Given the description of an element on the screen output the (x, y) to click on. 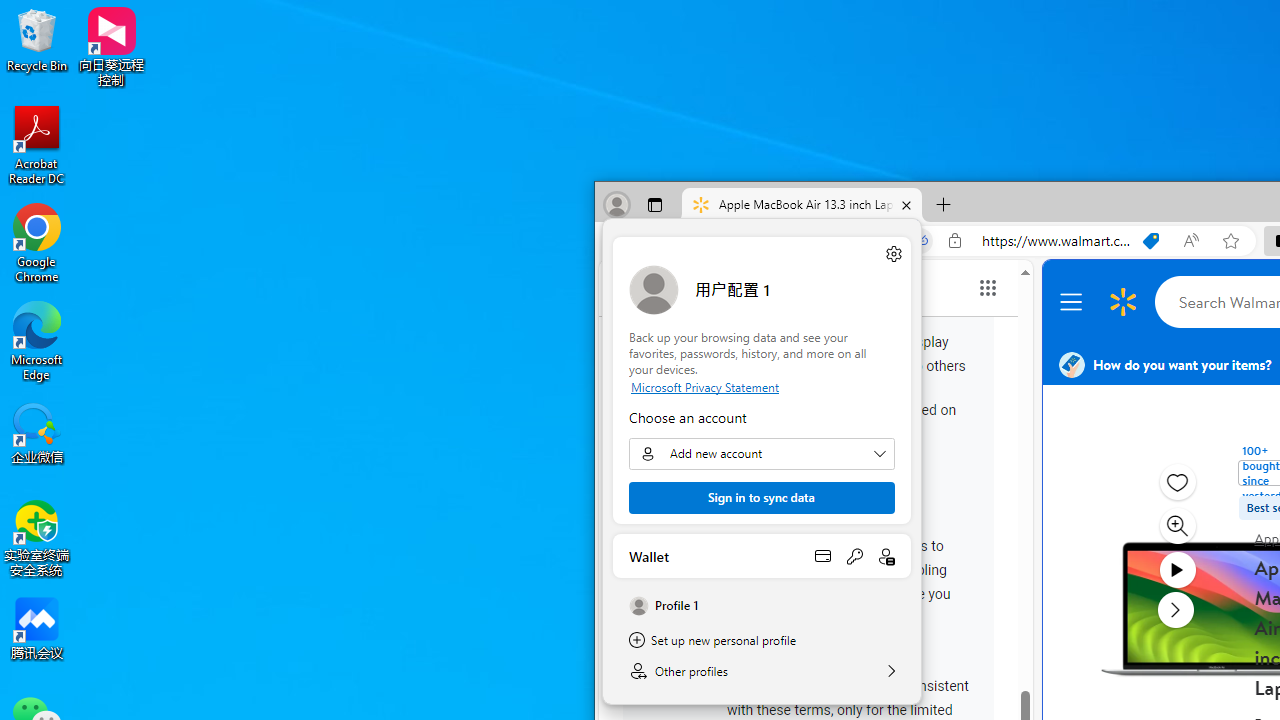
Zoom image modal (1176, 526)
Microsoft Privacy Statement (761, 386)
This site has coupons! Shopping in Microsoft Edge, 7 (1151, 241)
Choose an account (761, 453)
Menu (1074, 301)
Walmart Homepage (1123, 301)
Open payment methods (822, 555)
Wallet (762, 556)
Other profiles (762, 670)
Sign in to sync data (761, 497)
Manage profile settings (893, 253)
next media item (1175, 609)
Profile 1 (762, 606)
Set up new personal profile (762, 639)
